Given the description of an element on the screen output the (x, y) to click on. 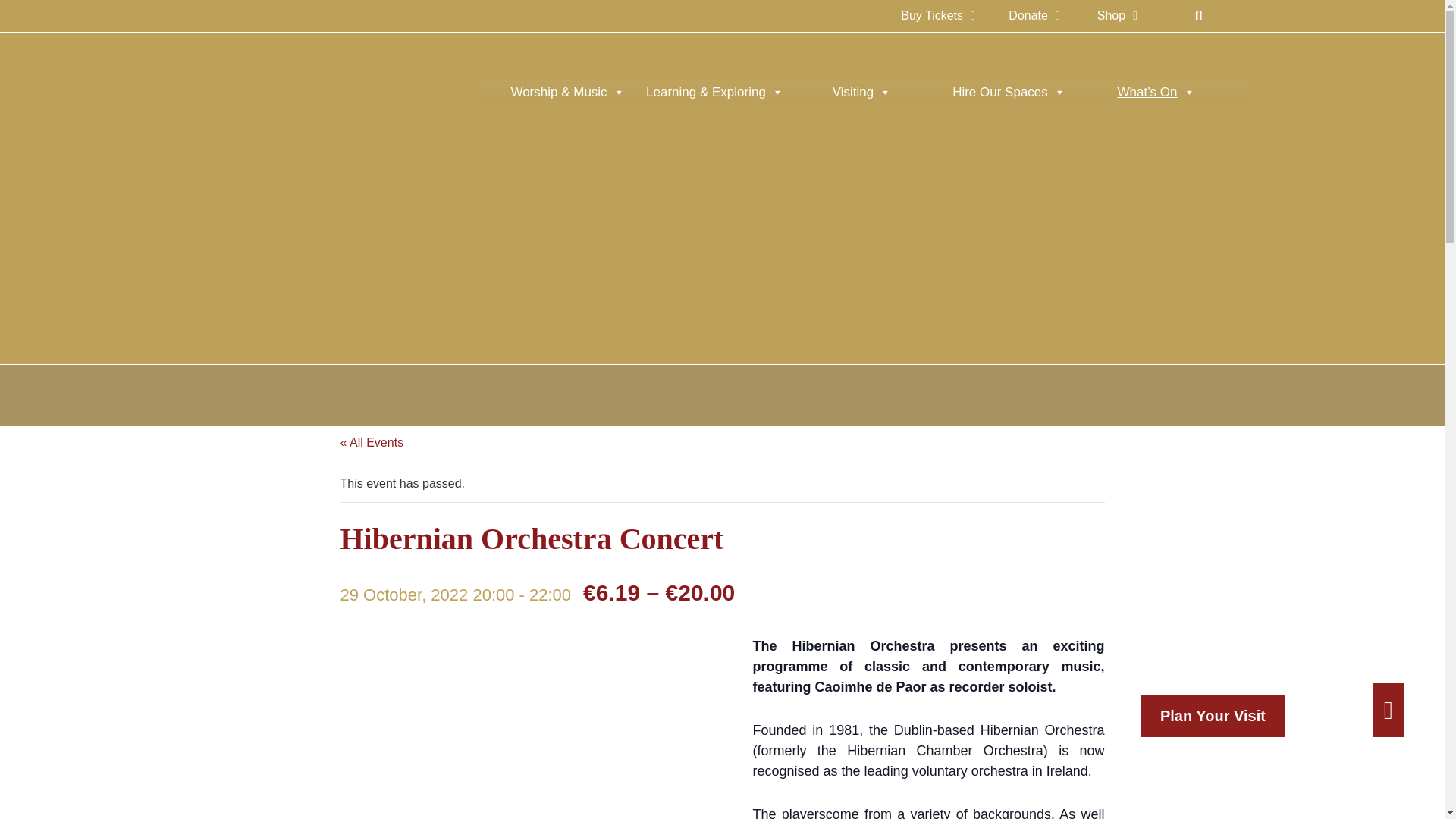
Donate (1034, 15)
Shop (1116, 15)
Buy Tickets (938, 15)
Visiting (861, 92)
